Given the description of an element on the screen output the (x, y) to click on. 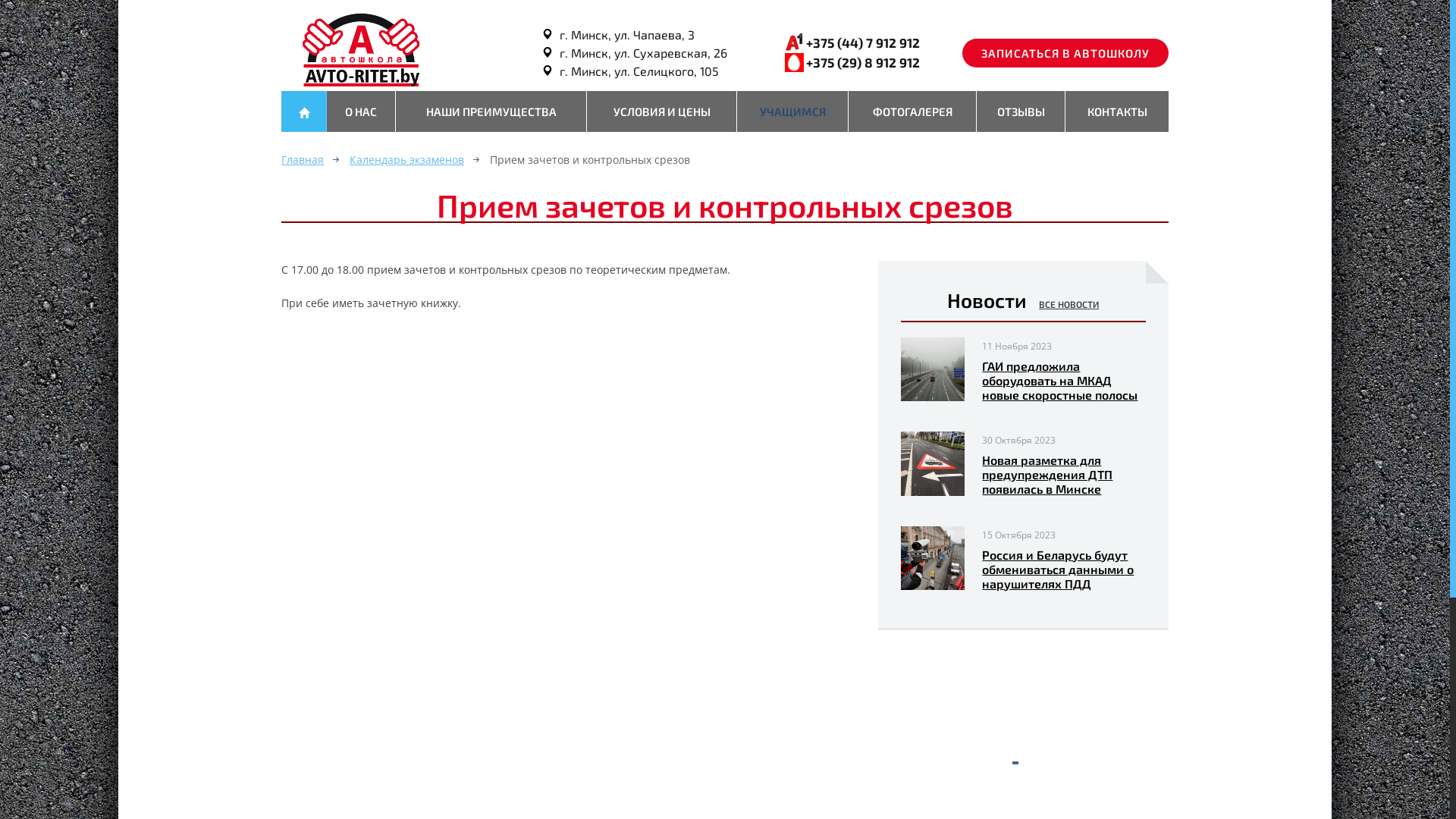
+375 (29) 8 912 912 Element type: text (862, 61)
+375 (44) 7 912 912 Element type: text (862, 42)
